Given the description of an element on the screen output the (x, y) to click on. 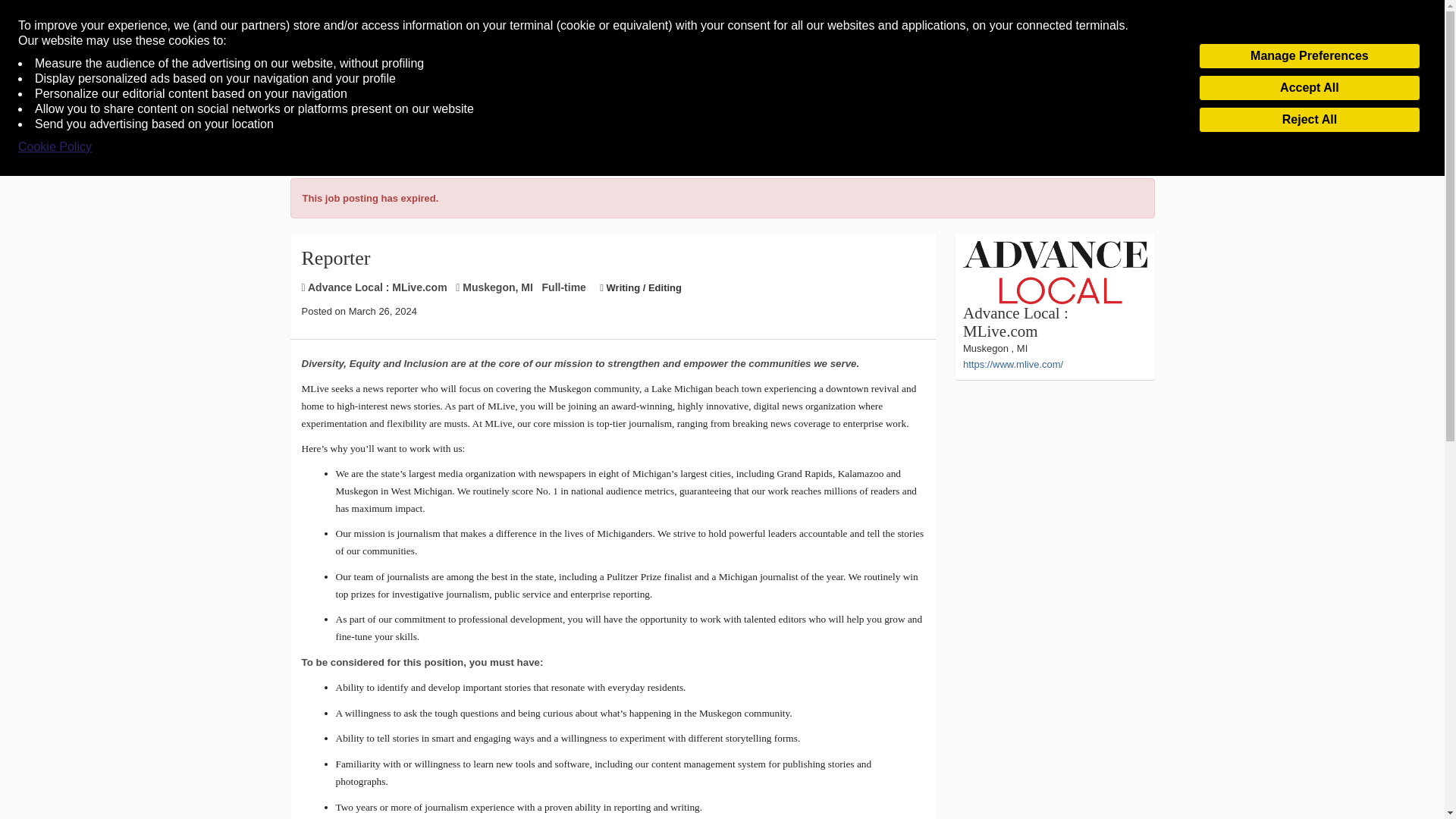
Menu (40, 89)
Manage Preferences (1309, 55)
Accept All (1309, 87)
Cleveland.com (720, 87)
Cleveland.com (720, 87)
Cookie Policy (54, 146)
Reject All (1309, 119)
